Given the description of an element on the screen output the (x, y) to click on. 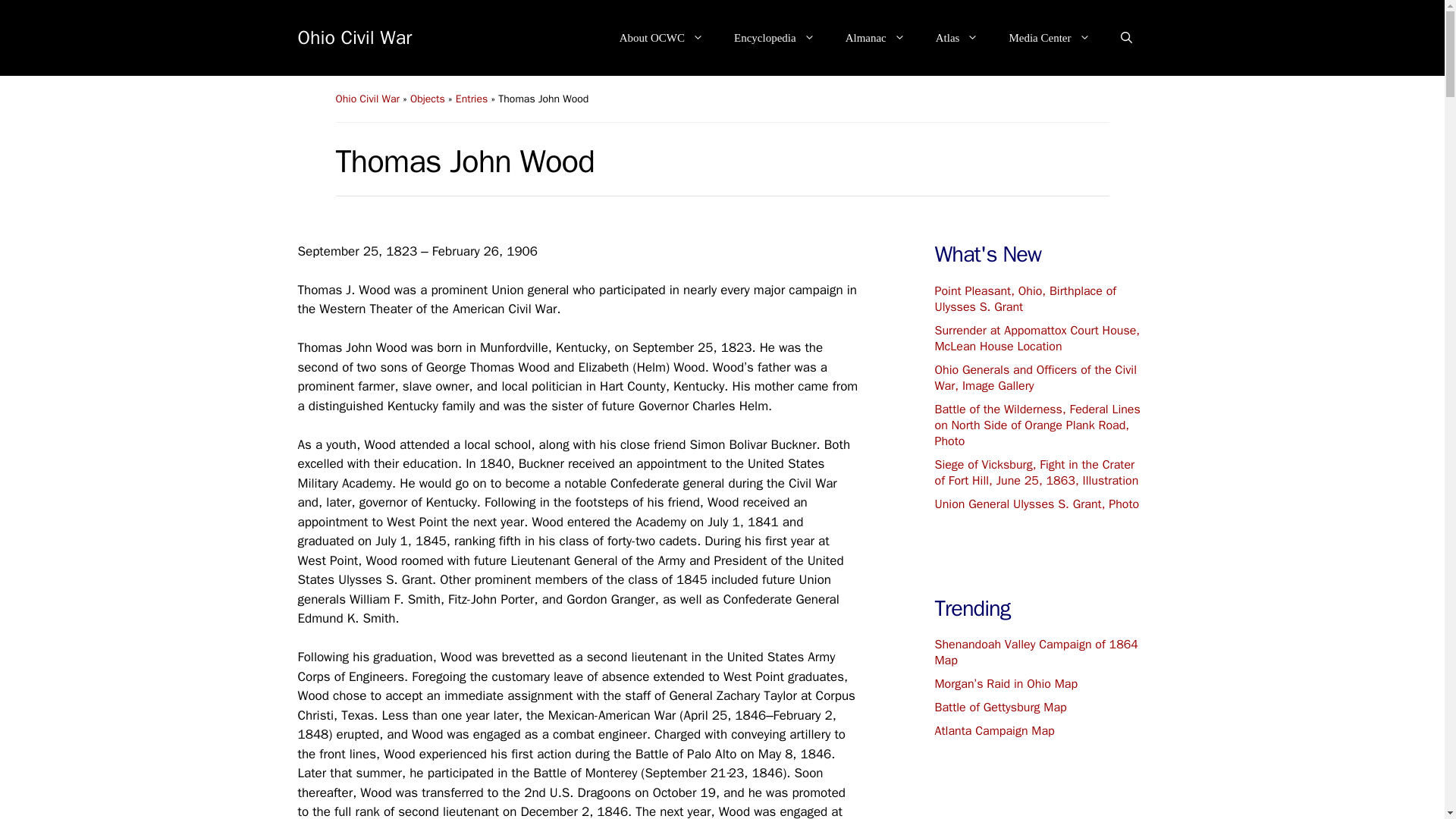
Encyclopedia (774, 37)
Ohio Civil War (366, 98)
About OCWC (661, 37)
Entries (471, 98)
Ohio Civil War (354, 37)
Atlas (957, 37)
Objects (427, 98)
Almanac (874, 37)
Media Center (1048, 37)
